Given the description of an element on the screen output the (x, y) to click on. 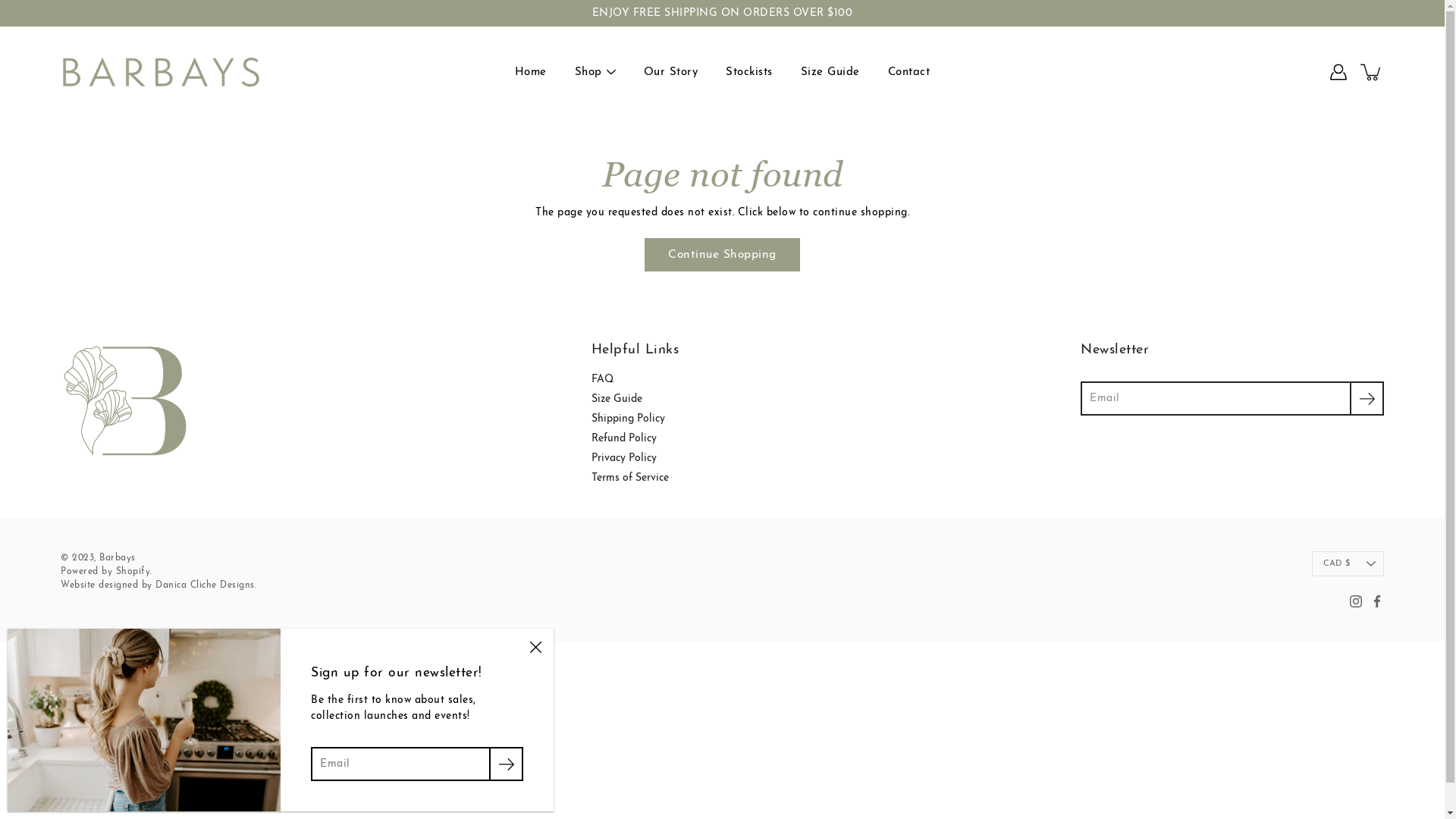
Size Guide Element type: text (616, 398)
Refund Policy Element type: text (623, 438)
CAD $ Element type: text (1347, 563)
Stockists Element type: text (748, 71)
Continue Shopping Element type: text (722, 254)
Barbays Element type: text (117, 557)
Privacy Policy Element type: text (623, 458)
Size Guide Element type: text (829, 71)
Instagram Element type: text (1355, 601)
Facebook Element type: text (1376, 601)
Shop Element type: text (588, 71)
FAQ Element type: text (602, 379)
Home Element type: text (530, 71)
Contact Element type: text (909, 71)
Website designed by Danica Cliche Designs. Element type: text (158, 584)
Shipping Policy Element type: text (628, 418)
Our Story Element type: text (670, 71)
Terms of Service Element type: text (629, 477)
Powered by Shopify Element type: text (105, 571)
